Given the description of an element on the screen output the (x, y) to click on. 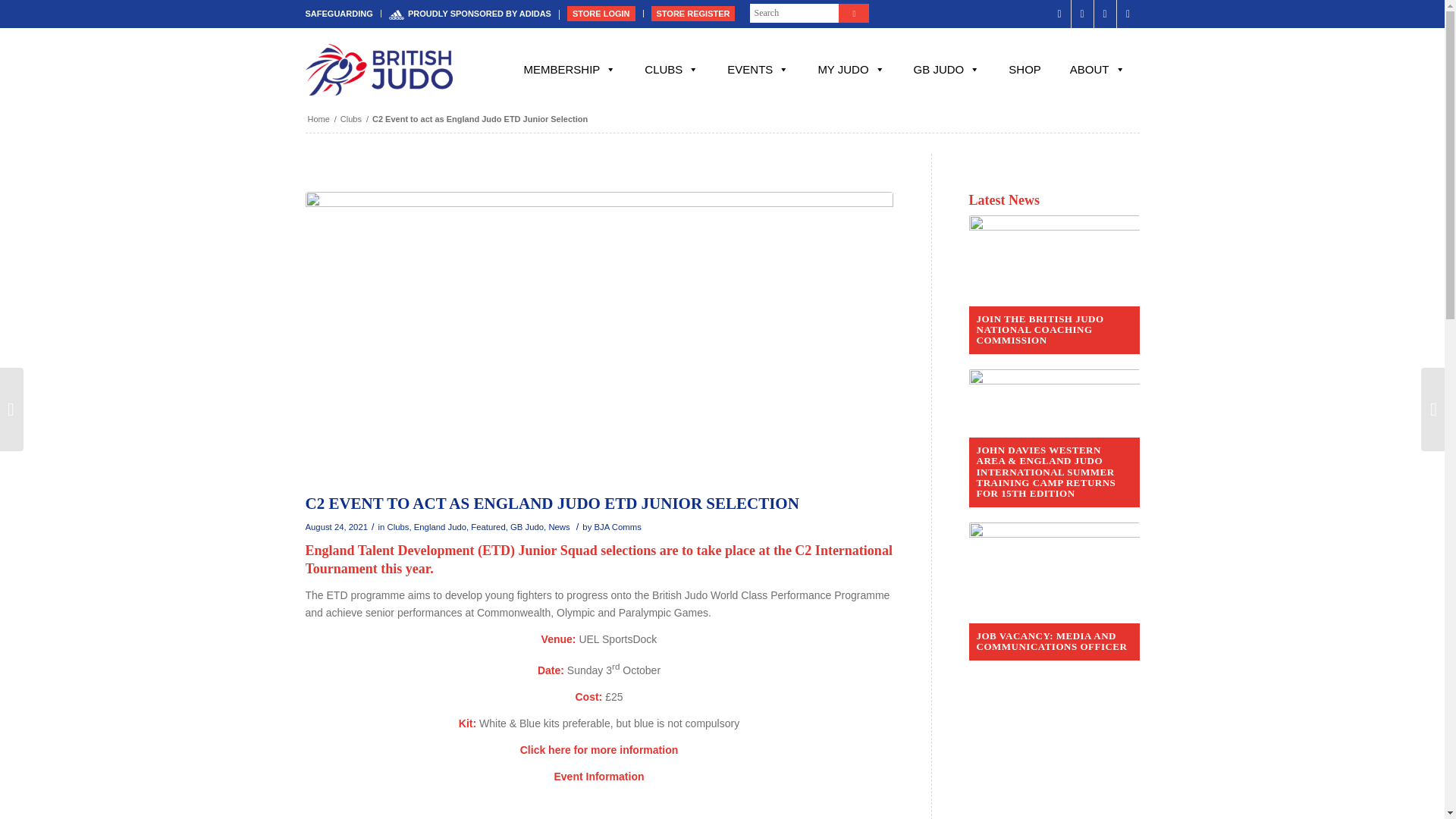
MEMBERSHIP (569, 69)
EVENTS (758, 69)
STORE LOGIN (600, 13)
Posts by BJA Comms (617, 526)
PROUDLY SPONSORED BY ADIDAS (469, 13)
CLUBS (671, 69)
STORE REGISTER (692, 13)
SAFEGUARDING (338, 13)
MY JUDO (850, 69)
